Given the description of an element on the screen output the (x, y) to click on. 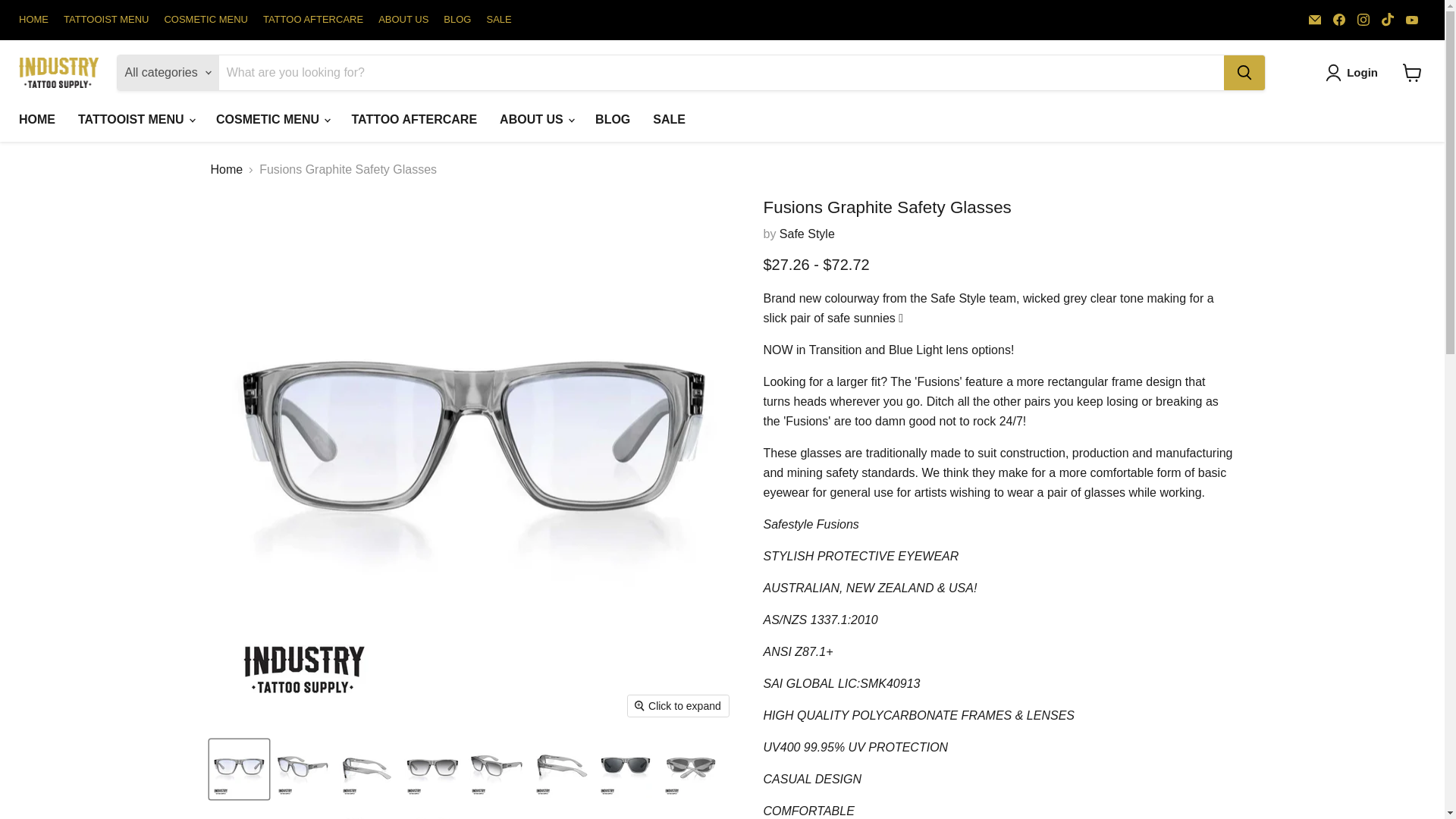
YouTube (1411, 19)
Email (1314, 19)
Facebook (1338, 19)
Find us on TikTok (1387, 19)
HOME (36, 119)
TATTOOIST MENU (106, 19)
Find us on Facebook (1338, 19)
View cart (1411, 72)
BLOG (457, 19)
HOME (33, 19)
Find us on YouTube (1411, 19)
Login (1354, 72)
Safe Style (806, 233)
Email Industry Tattoo Supply (1314, 19)
Instagram (1363, 19)
